Given the description of an element on the screen output the (x, y) to click on. 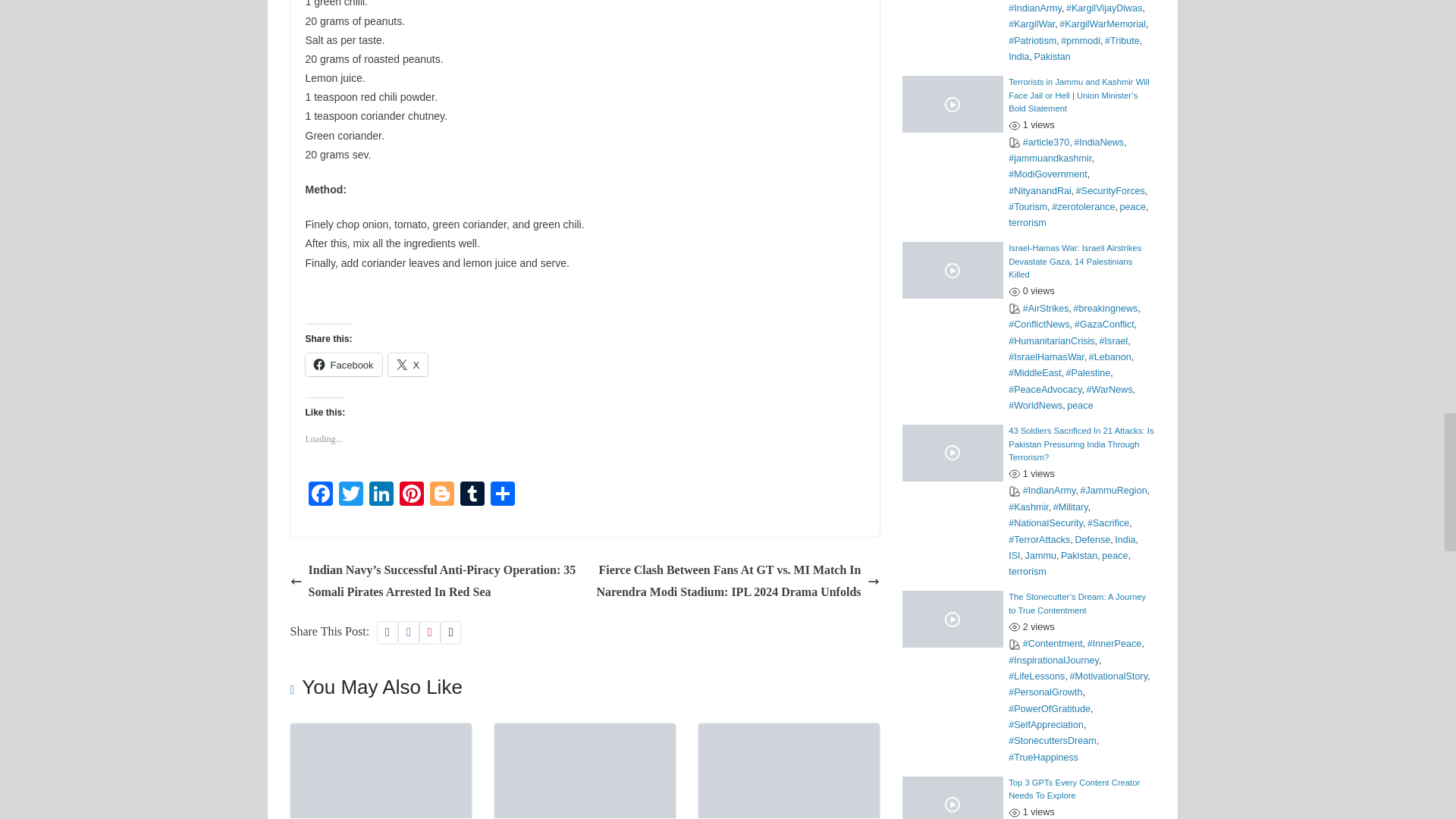
Facebook (319, 495)
Click to share on X (408, 363)
Click to share on Facebook (342, 363)
